Given the description of an element on the screen output the (x, y) to click on. 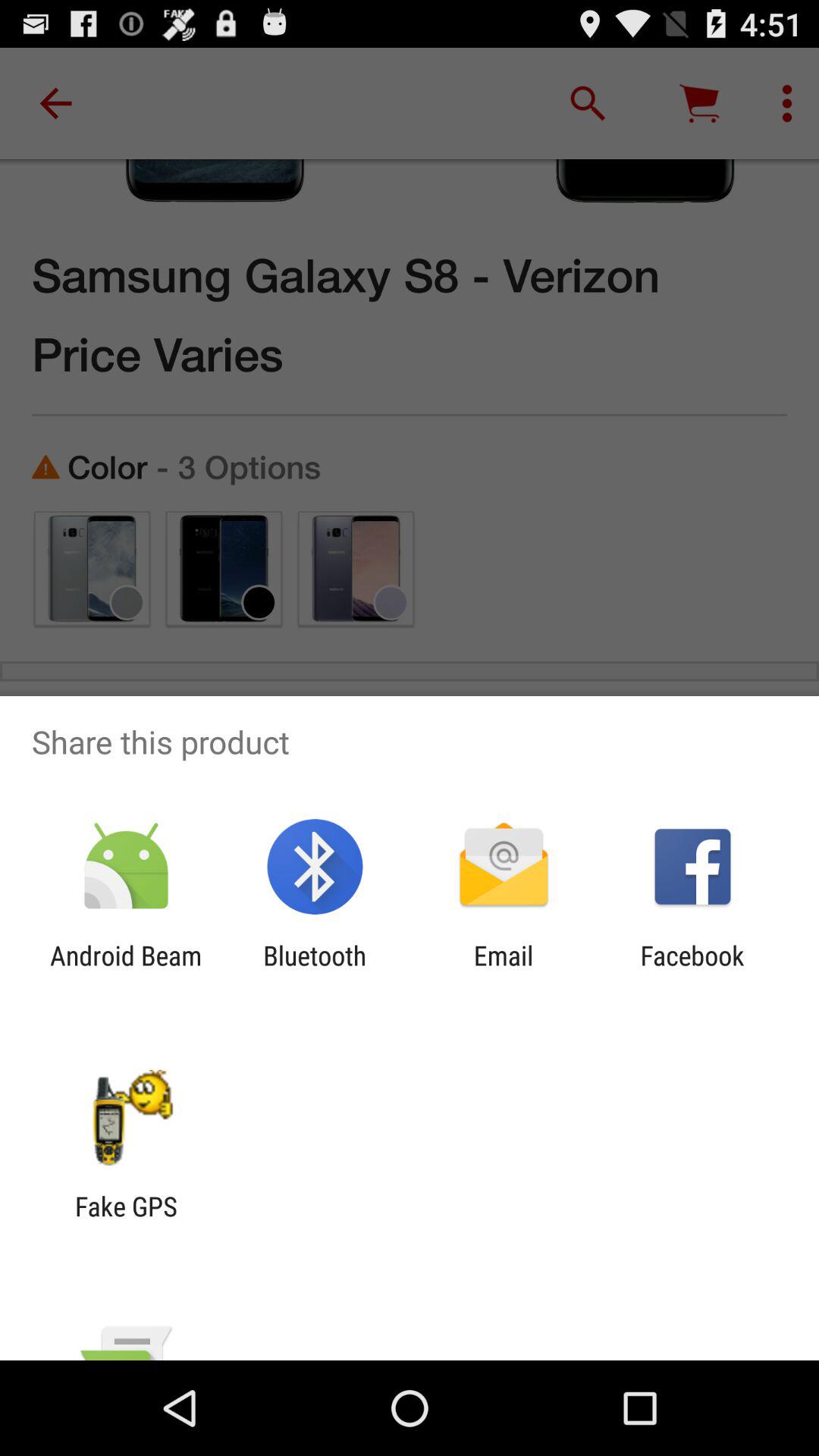
tap the facebook icon (692, 971)
